Given the description of an element on the screen output the (x, y) to click on. 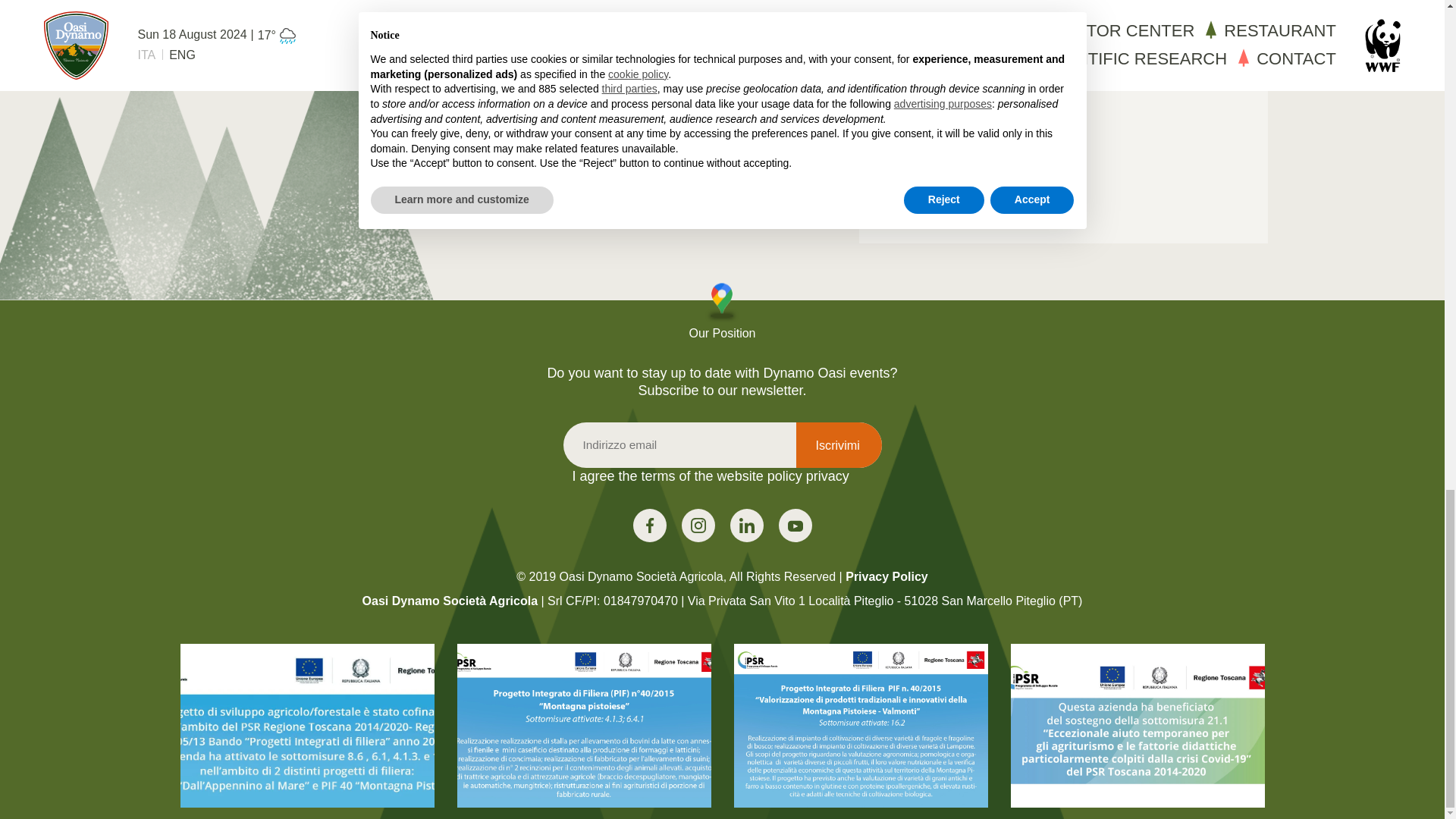
linkedin (745, 525)
Our Position (721, 312)
Privacy Policy (886, 576)
linkedin (793, 525)
Iscrivimi (838, 444)
Book Now (952, 182)
Book Now (952, 182)
Facebook (648, 525)
website privacy (988, 113)
trovaci su google map (721, 312)
